Given the description of an element on the screen output the (x, y) to click on. 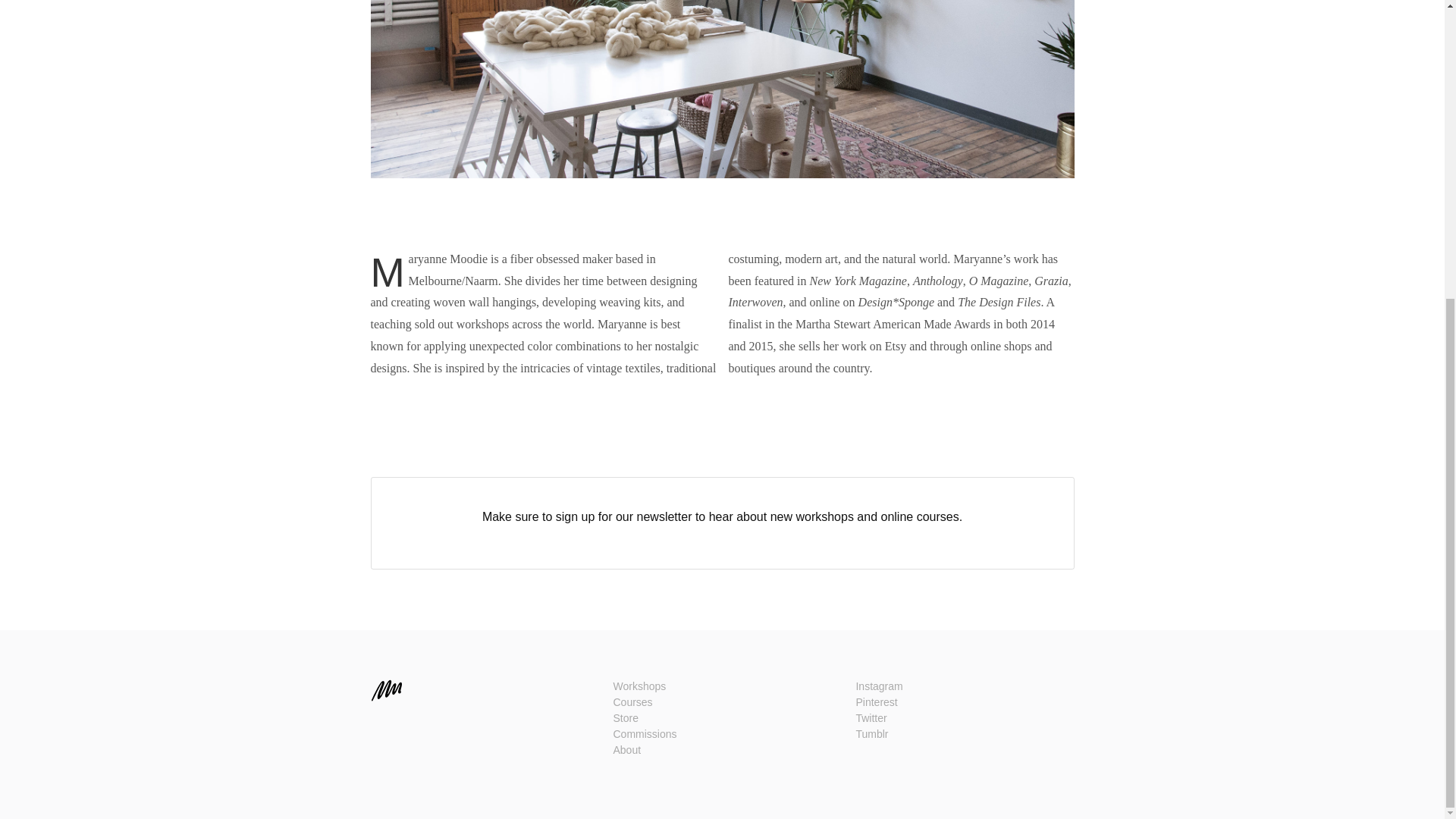
Tumblr (872, 734)
Instagram (879, 686)
Twitter (871, 717)
Commissions (644, 734)
About (626, 749)
Pinterest (876, 702)
Store (624, 717)
Courses (632, 702)
Workshops (638, 686)
